Given the description of an element on the screen output the (x, y) to click on. 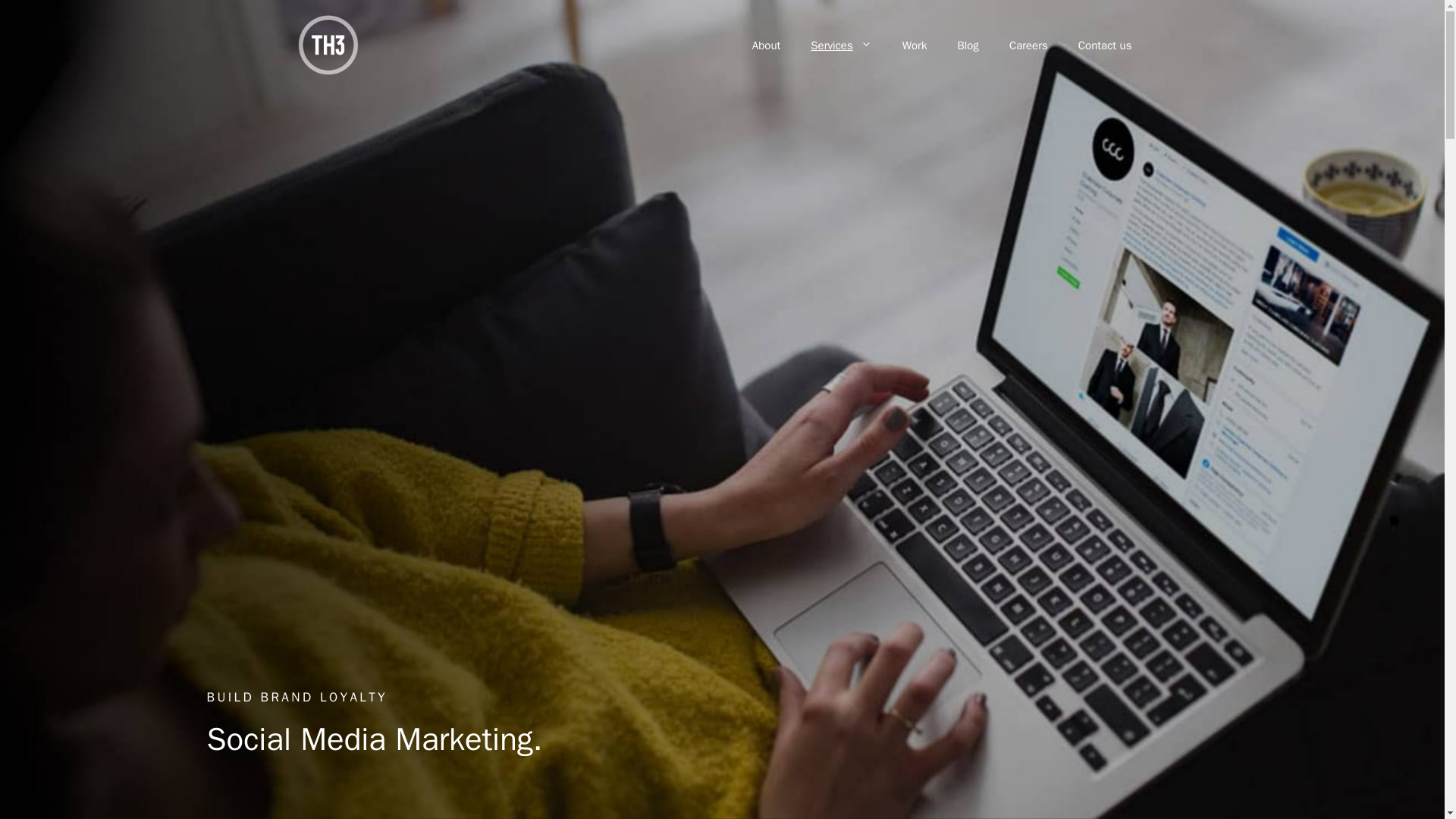
Careers (1028, 44)
Work (914, 44)
Contact us (1104, 44)
About (765, 44)
Blog (967, 44)
Services (840, 44)
